Given the description of an element on the screen output the (x, y) to click on. 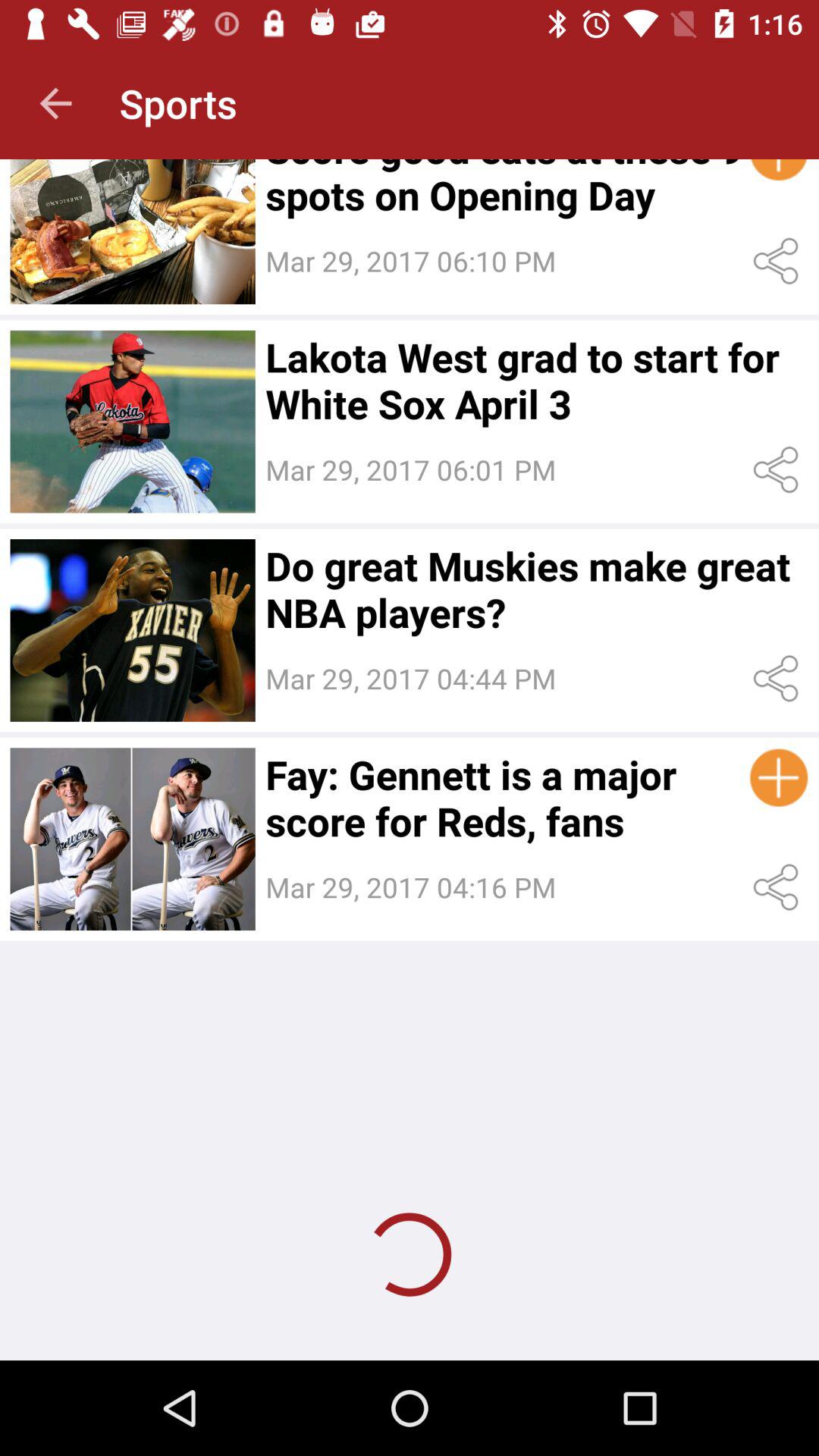
shares the article (778, 261)
